Given the description of an element on the screen output the (x, y) to click on. 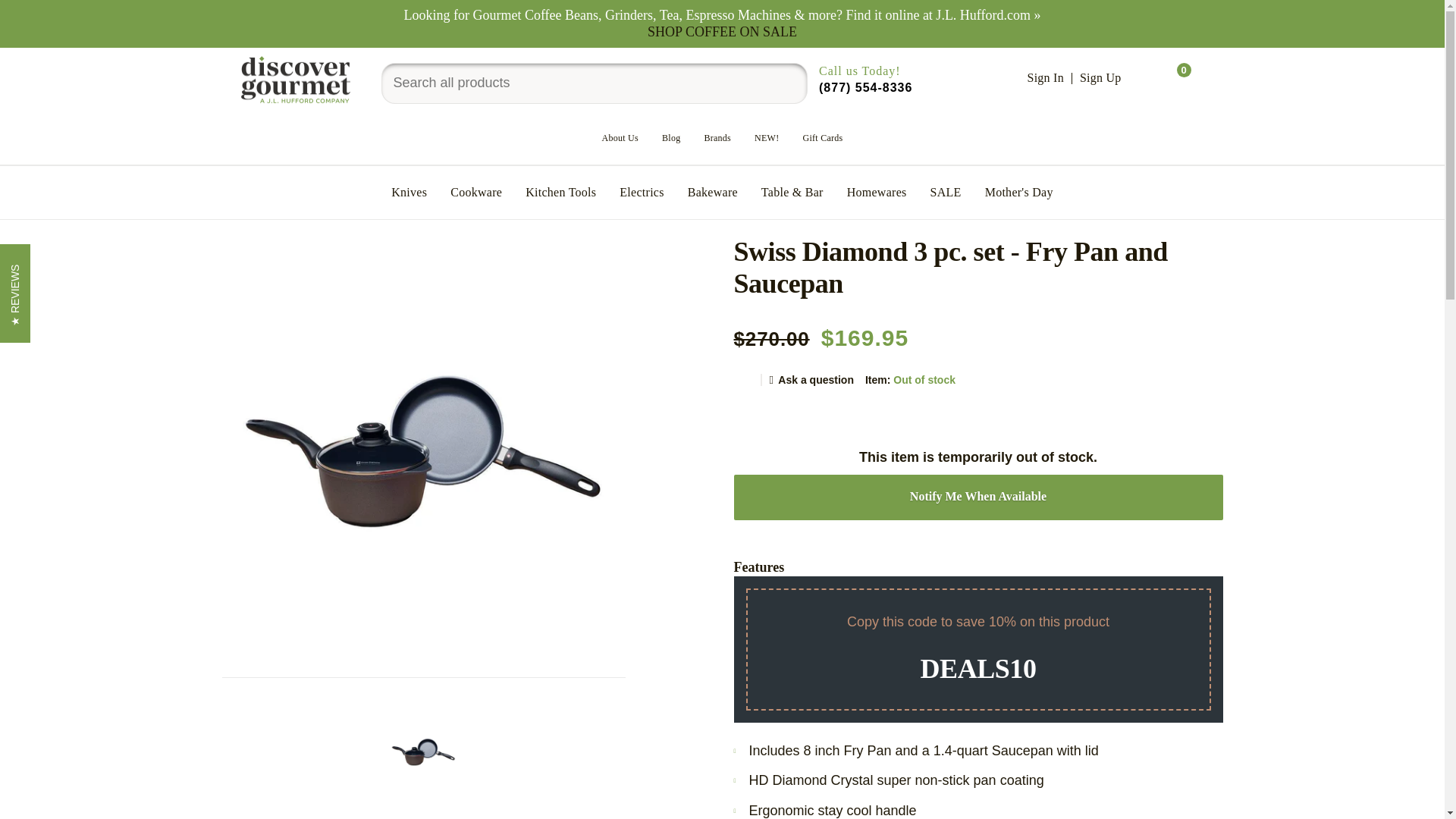
NEW! (766, 137)
Electrics (640, 191)
Blog (670, 137)
About Us (620, 137)
Brands (716, 137)
Brands (716, 137)
About Us (620, 137)
SALE (946, 191)
Knives (408, 191)
Sign In (1044, 79)
Homewares (876, 191)
Gift Cards (822, 137)
Bakeware (712, 191)
Blog (670, 137)
Sign Up (1100, 79)
